Given the description of an element on the screen output the (x, y) to click on. 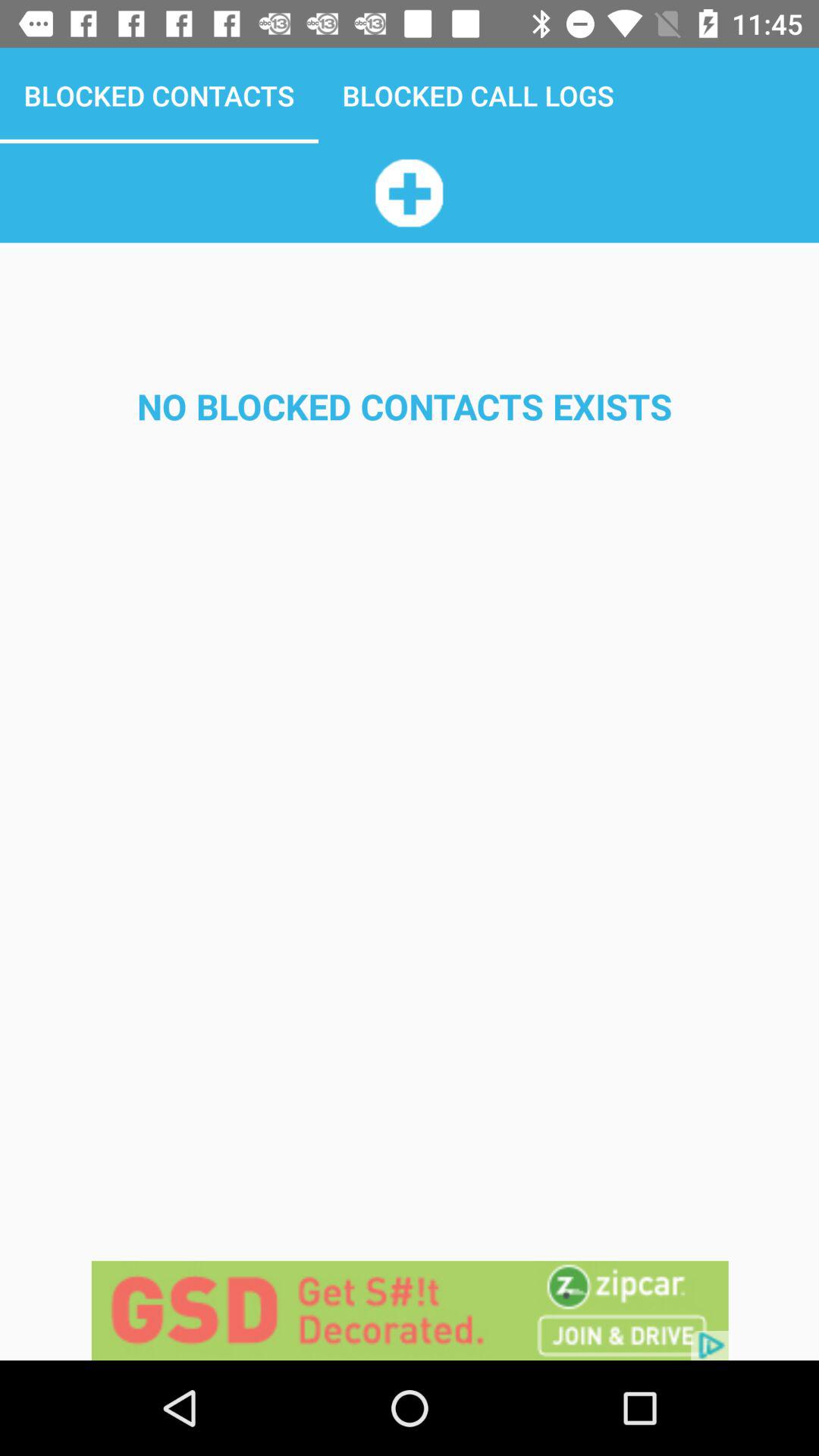
add a number (409, 193)
